Given the description of an element on the screen output the (x, y) to click on. 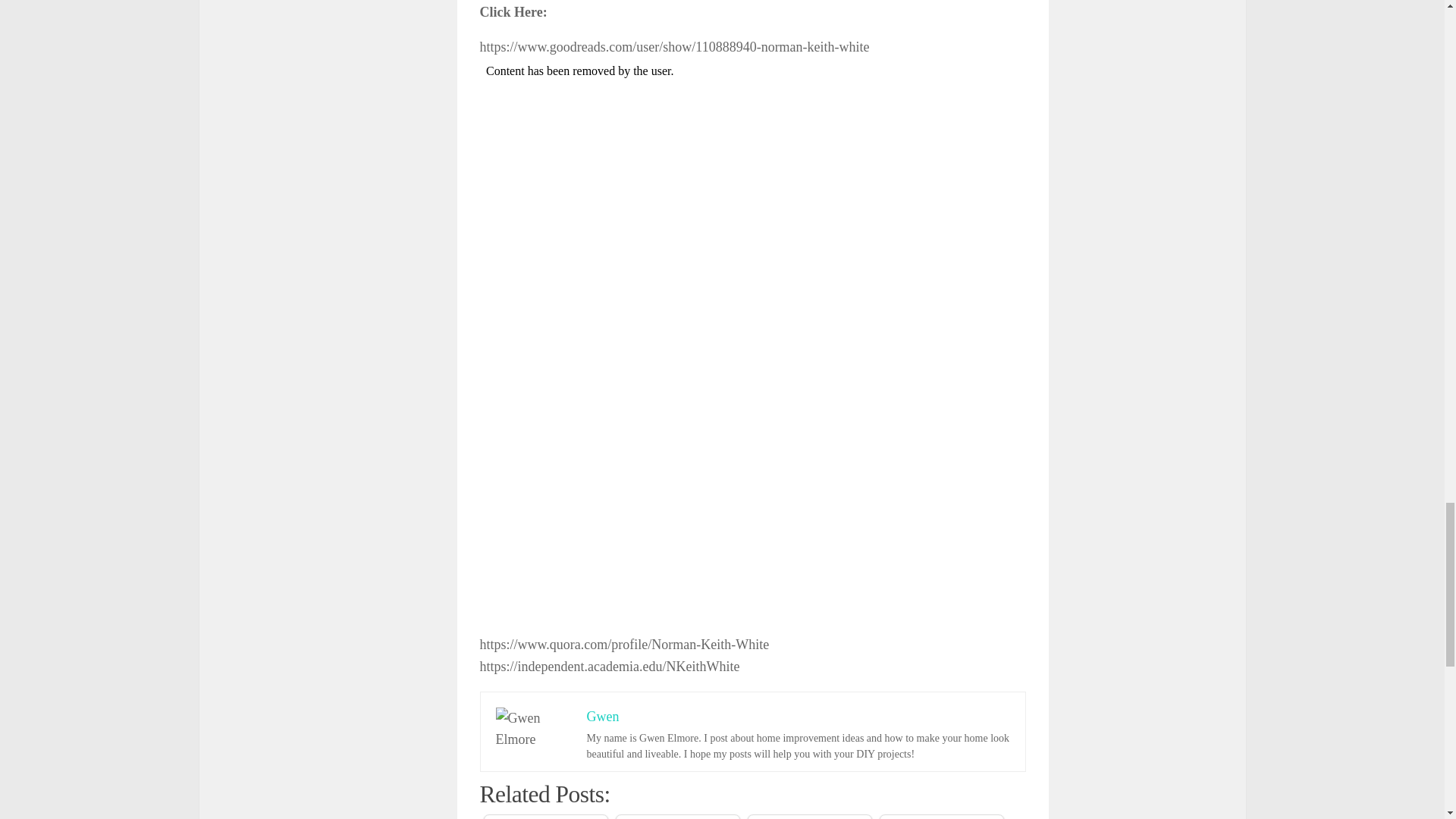
Gwen Elmore (534, 729)
